Given the description of an element on the screen output the (x, y) to click on. 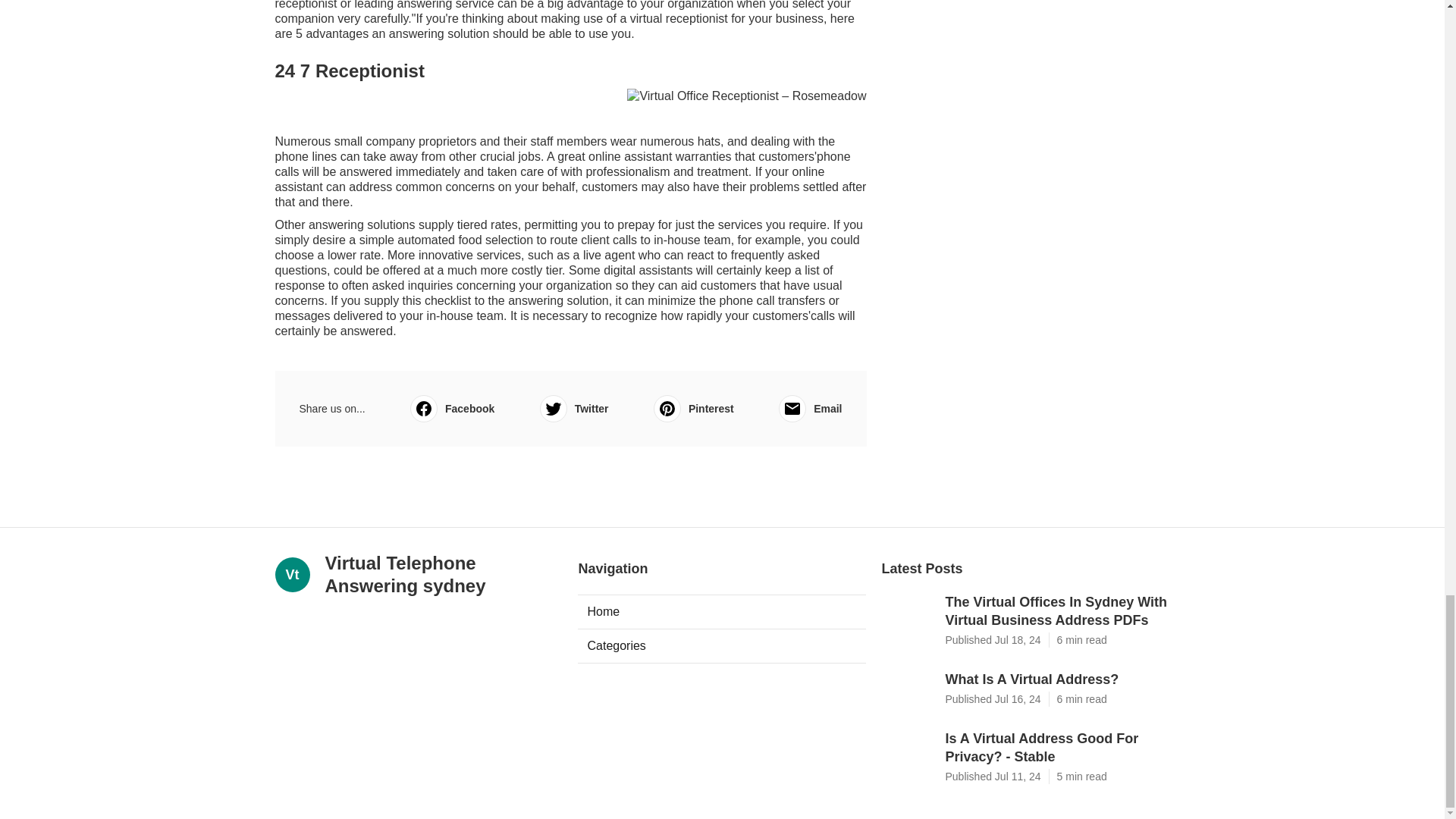
Email (809, 408)
Home (722, 611)
Is A Virtual Address Good For Privacy? - Stable (1056, 747)
Pinterest (693, 408)
Categories (722, 646)
What Is A Virtual Address? (1056, 679)
Twitter (574, 408)
Facebook (452, 408)
